Given the description of an element on the screen output the (x, y) to click on. 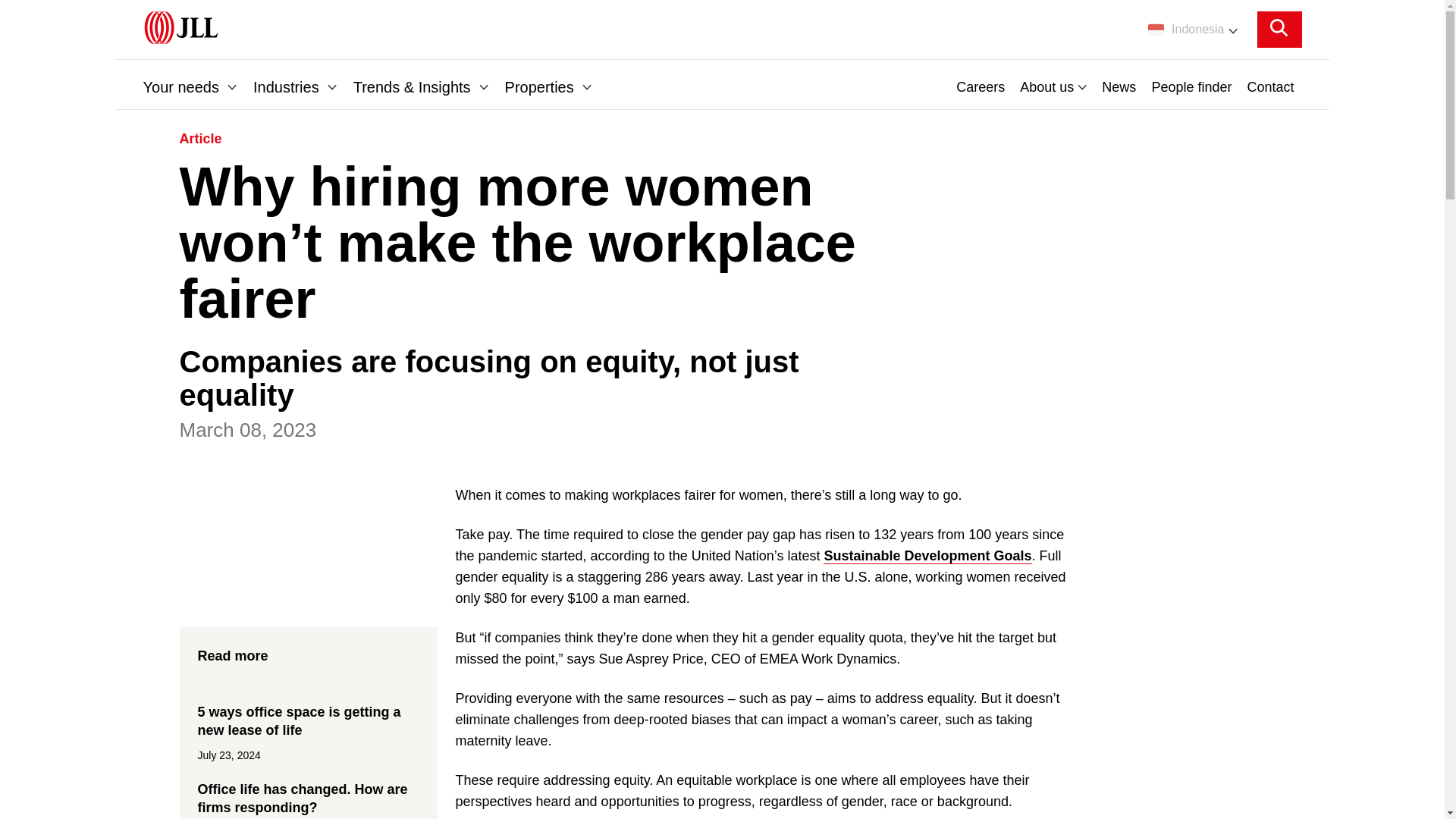
Indonesia (1192, 29)
